Given the description of an element on the screen output the (x, y) to click on. 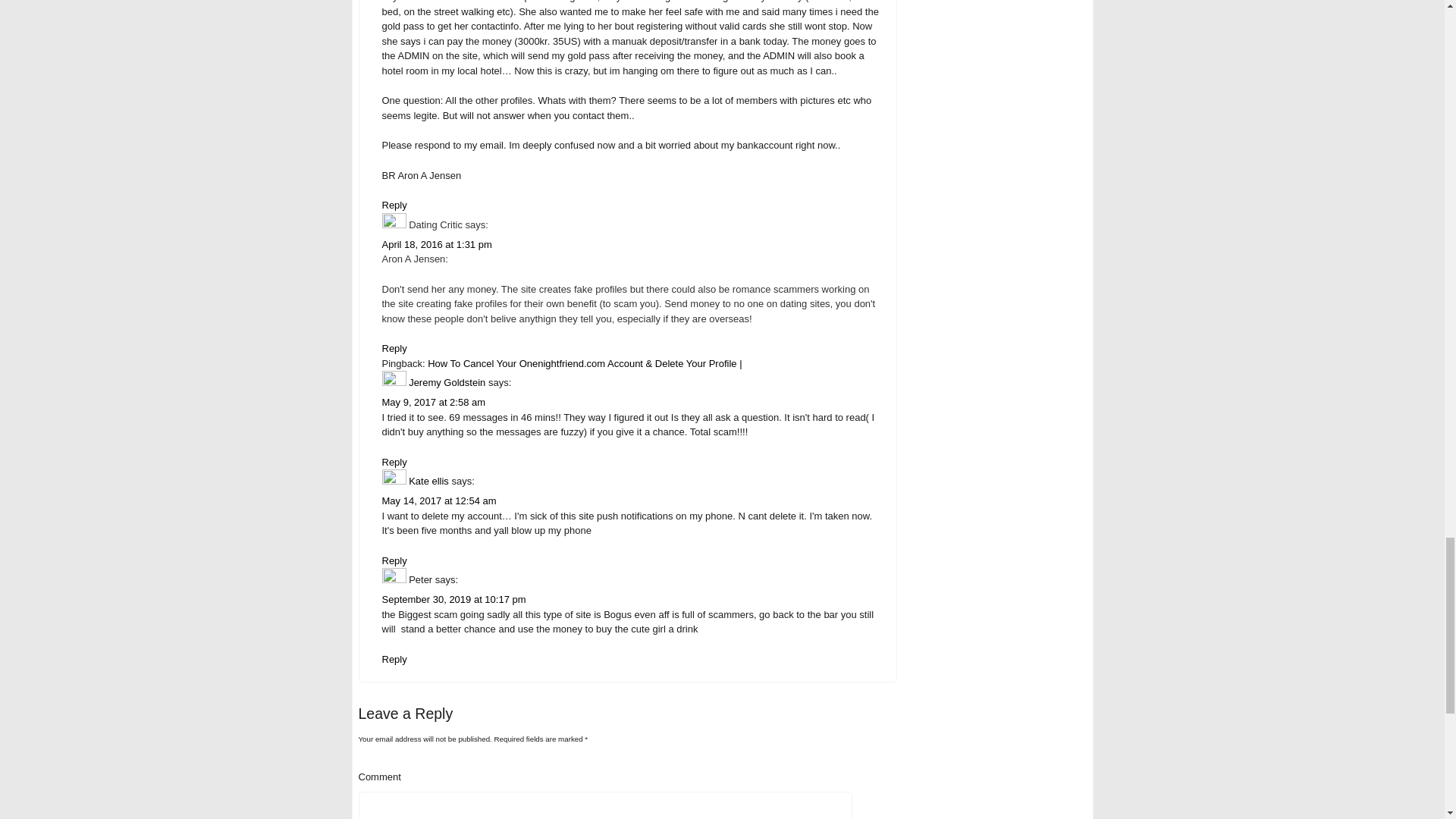
Jeremy Goldstein (446, 382)
May 9, 2017 at 2:58 am (433, 401)
Reply (394, 659)
Kate ellis (428, 480)
April 18, 2016 at 1:31 pm (436, 244)
May 14, 2017 at 12:54 am (438, 500)
Reply (394, 461)
Reply (394, 204)
Reply (394, 560)
September 30, 2019 at 10:17 pm (453, 599)
Reply (394, 348)
